Given the description of an element on the screen output the (x, y) to click on. 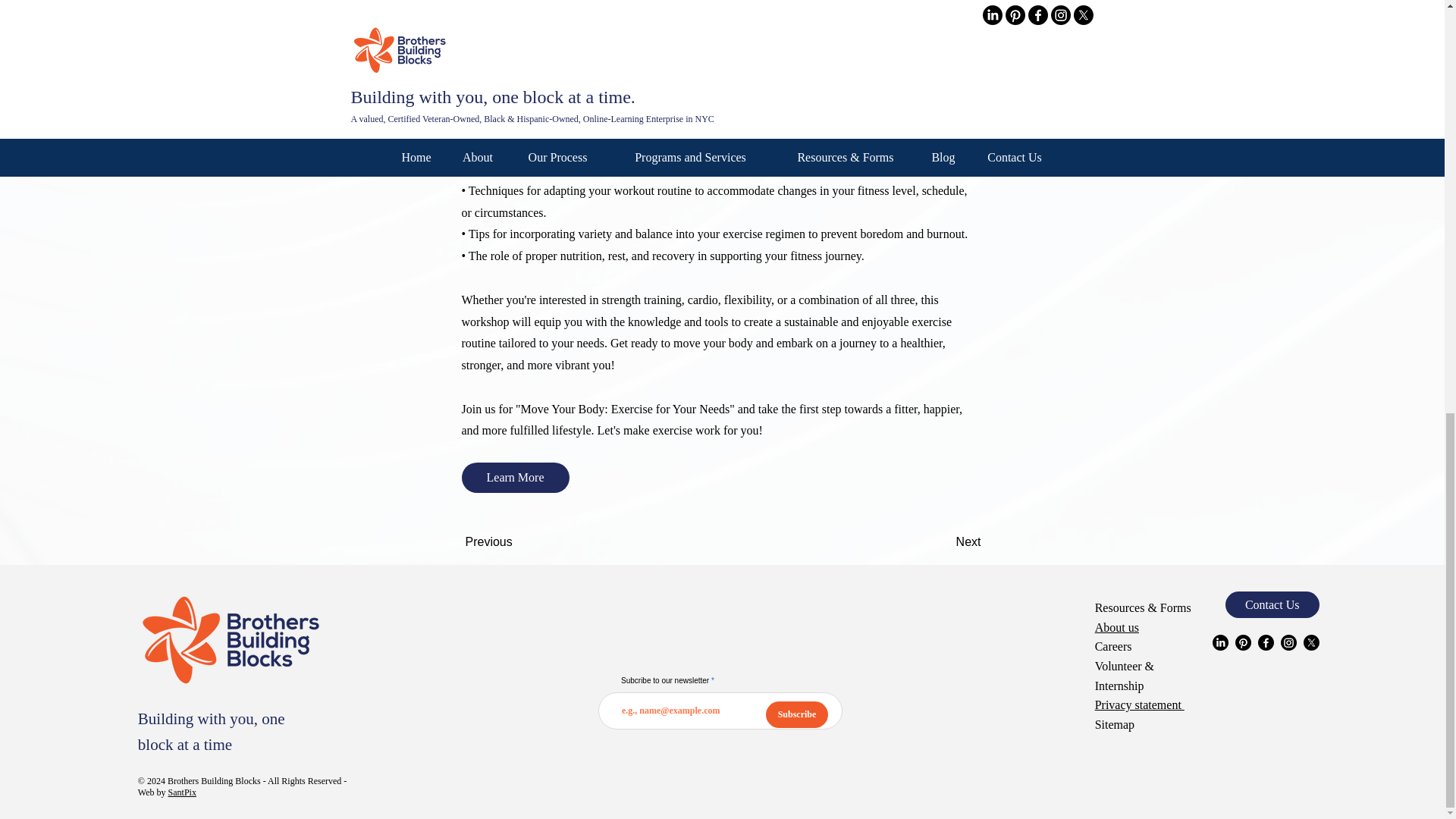
Previous (515, 542)
Privacy statement  (1139, 704)
Next (943, 542)
Contact Us (1272, 604)
Subscribe (796, 714)
Learn More (515, 477)
About us (1116, 626)
SantPix (182, 792)
